Given the description of an element on the screen output the (x, y) to click on. 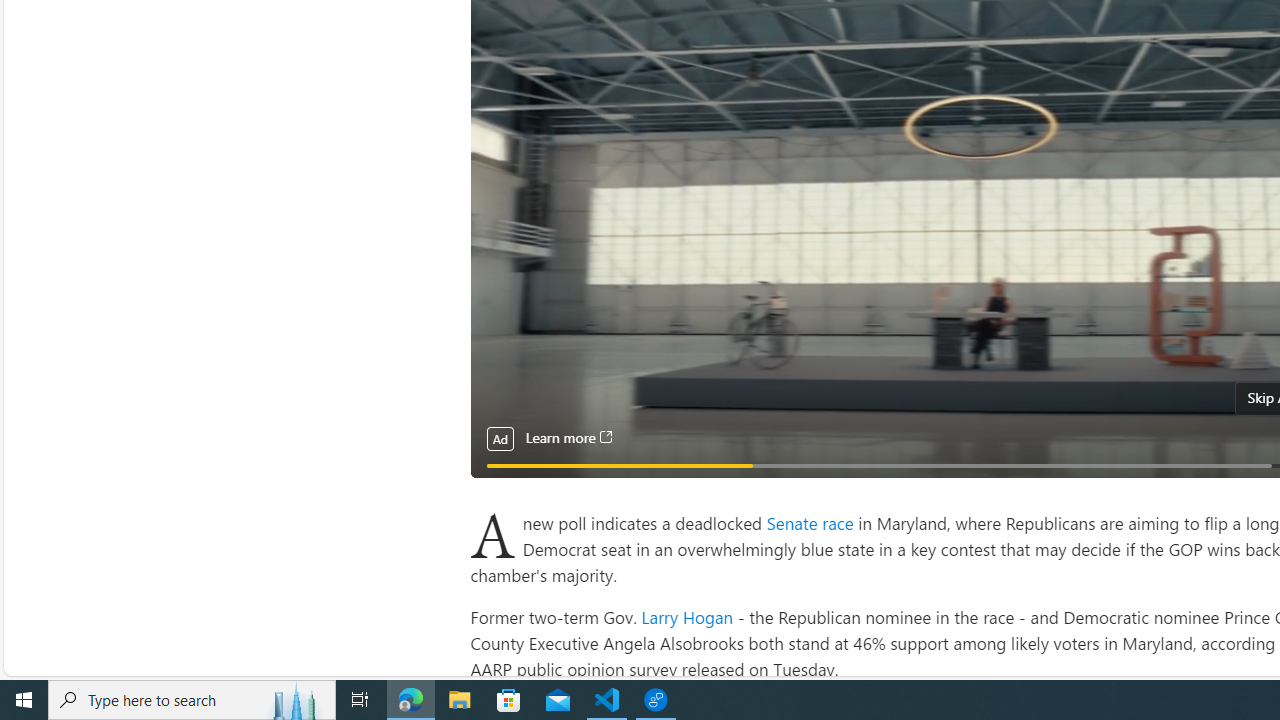
Larry Hogan (687, 615)
Senate race  (811, 522)
Learn more (567, 438)
Pause (498, 488)
